Given the description of an element on the screen output the (x, y) to click on. 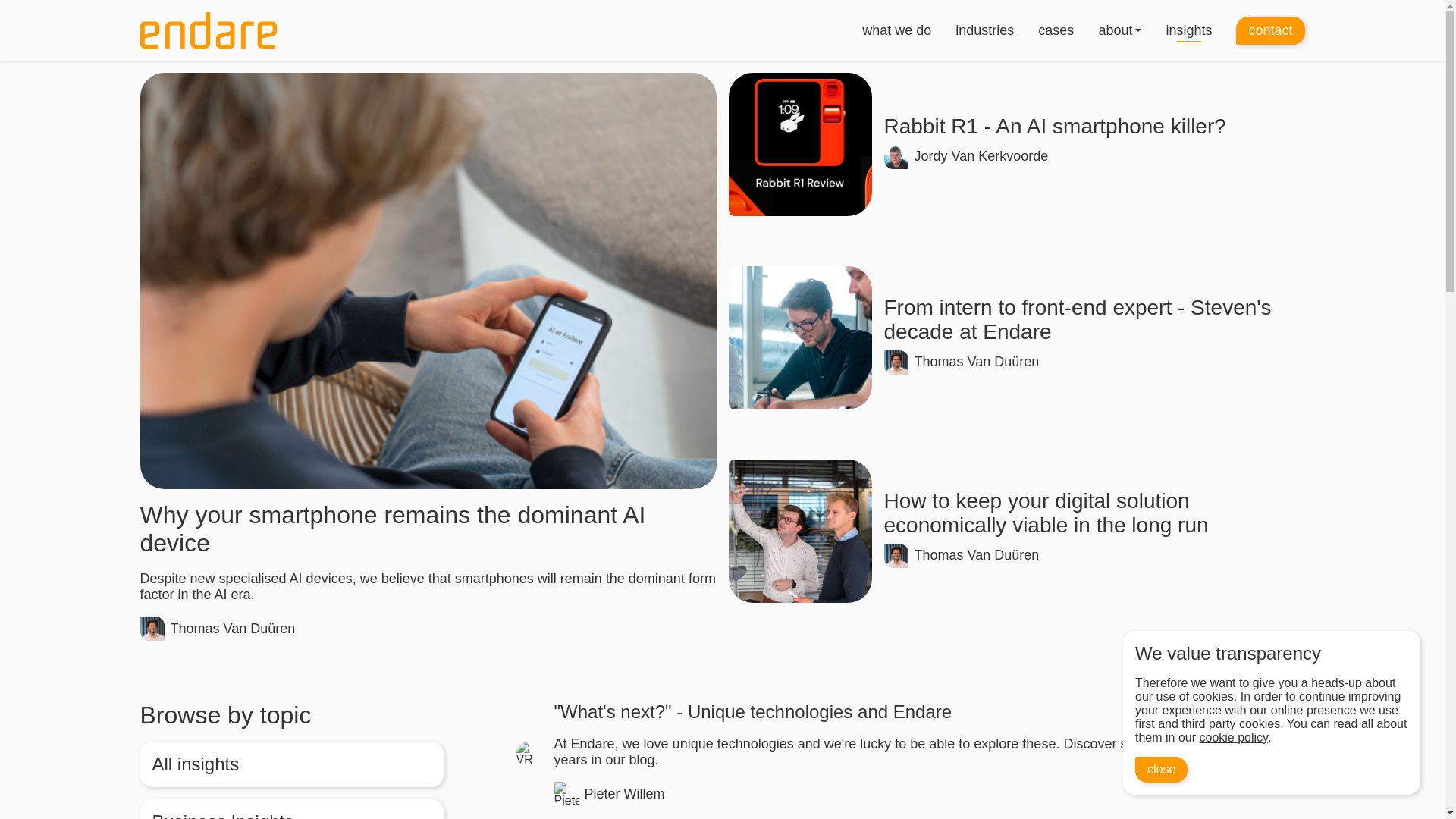
cases (1056, 29)
insights (1188, 29)
Business Insights (290, 809)
industries (1016, 144)
contact (984, 29)
what we do (1270, 30)
about (896, 29)
All insights (1114, 30)
